Given the description of an element on the screen output the (x, y) to click on. 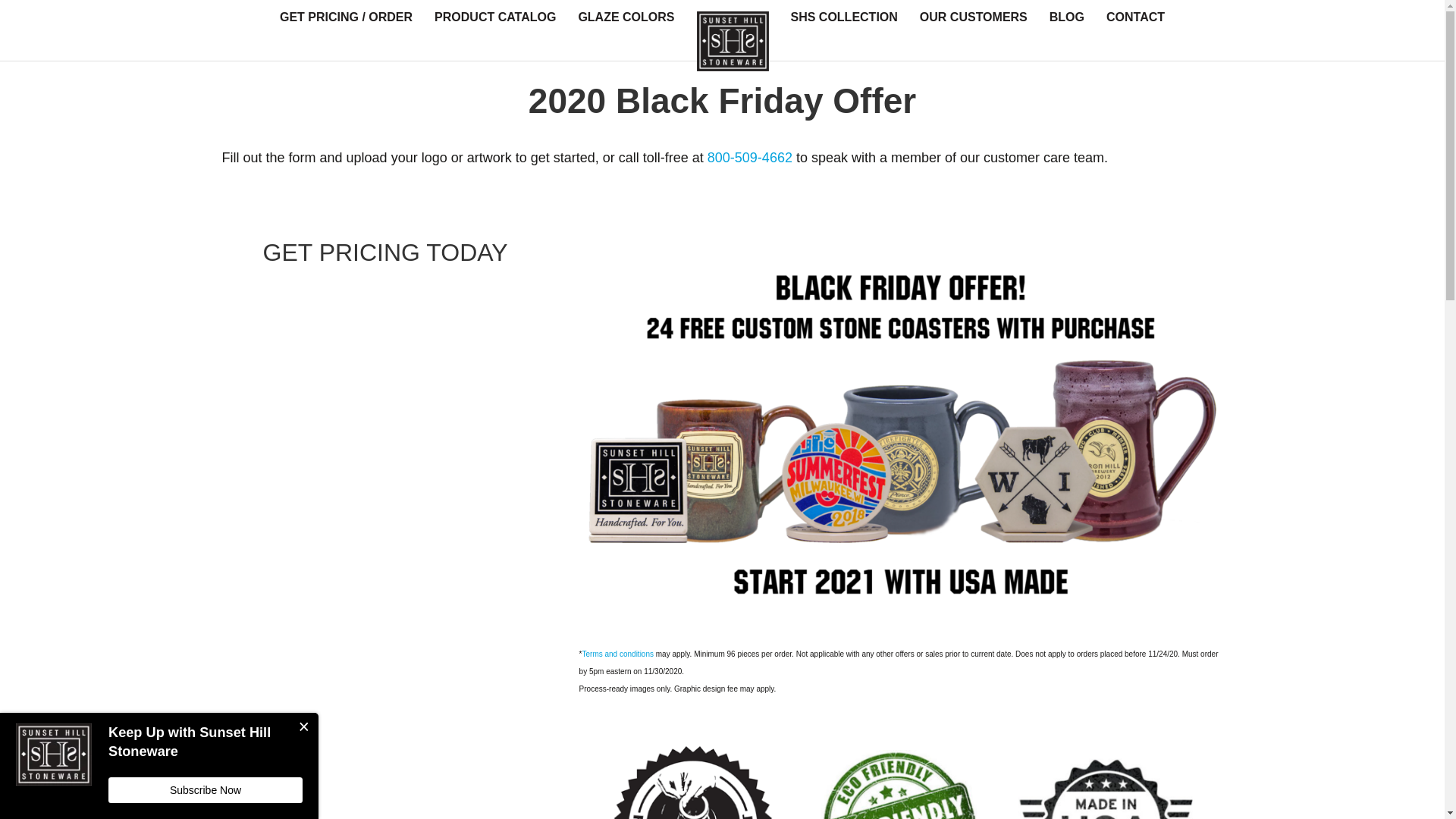
800-509-4662 (749, 157)
BLOG (1066, 17)
OUR CUSTOMERS (973, 17)
SHS COLLECTION (842, 17)
Features of SHS (901, 776)
Terms and conditions (617, 654)
PRODUCT CATALOG (494, 17)
GLAZE COLORS (625, 17)
CONTACT (1135, 17)
